Given the description of an element on the screen output the (x, y) to click on. 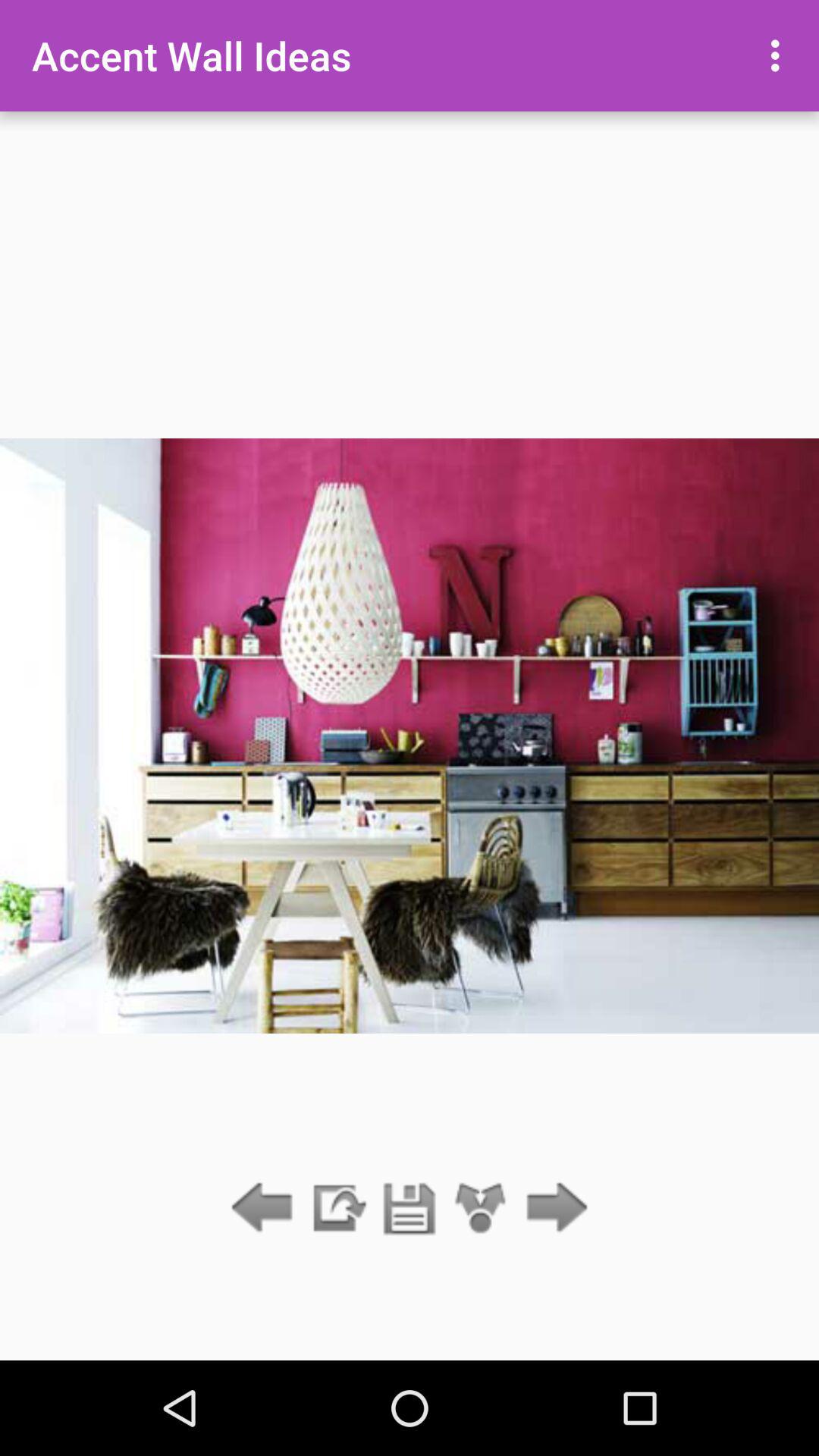
go to next page (552, 1209)
